Given the description of an element on the screen output the (x, y) to click on. 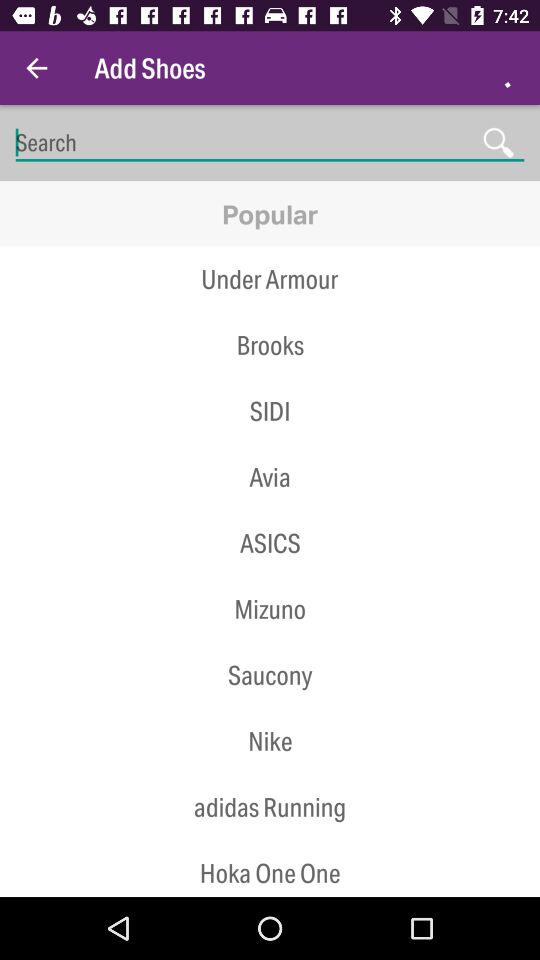
tap the item below the saucony icon (270, 708)
